Given the description of an element on the screen output the (x, y) to click on. 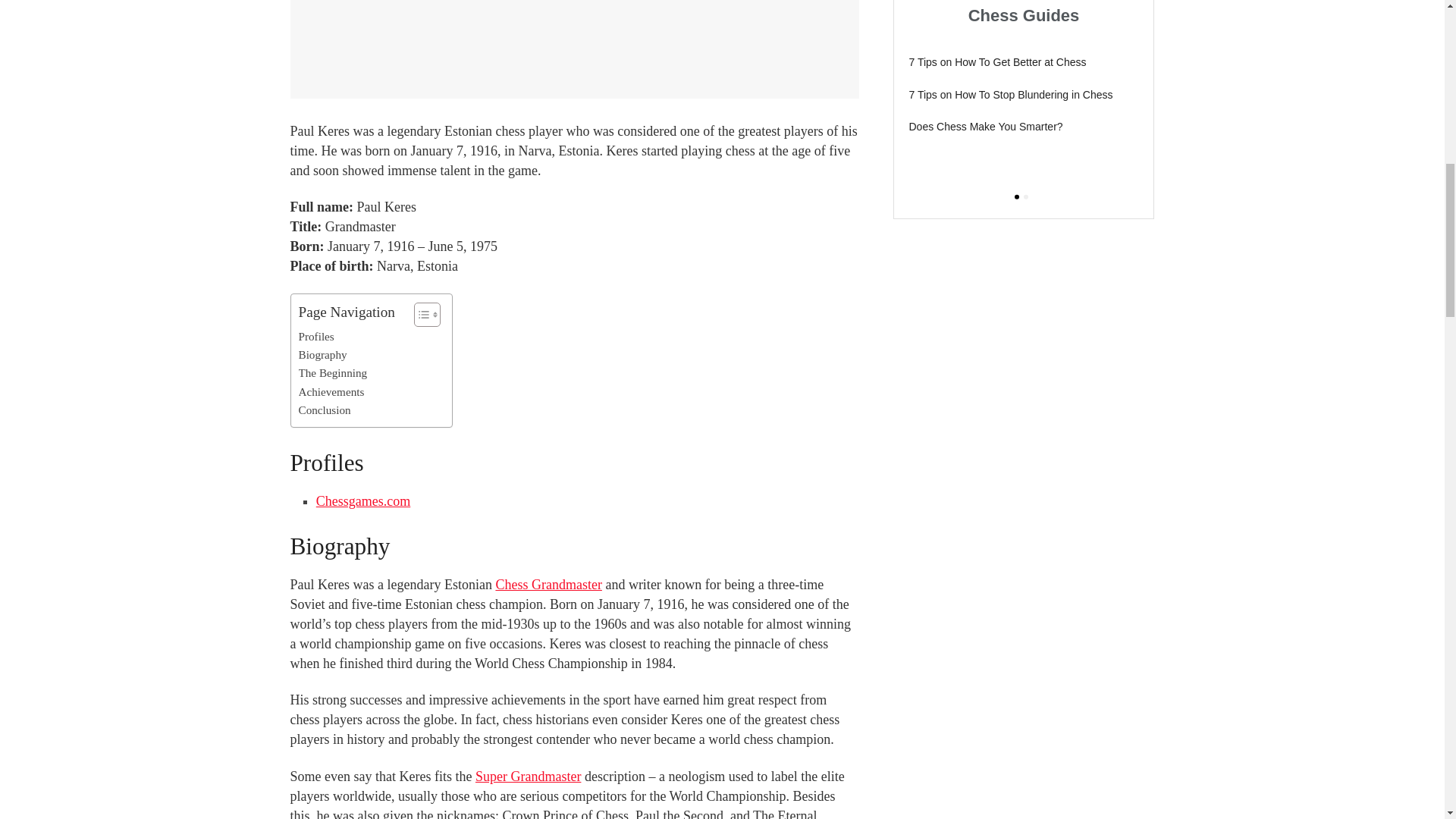
The Beginning (333, 372)
Profiles (316, 336)
Biography (322, 354)
Achievements (331, 392)
Conclusion (324, 410)
